Given the description of an element on the screen output the (x, y) to click on. 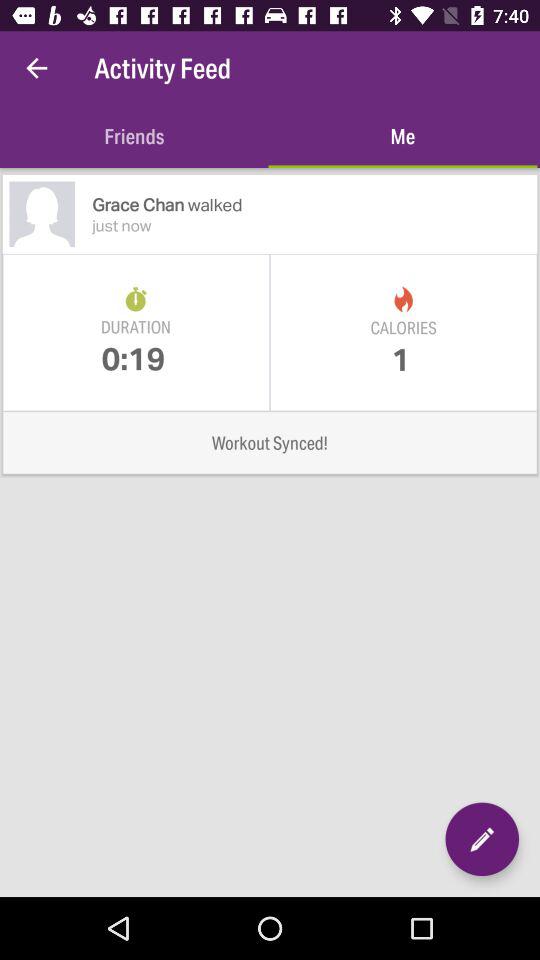
click the item next to the activity feed item (36, 68)
